Given the description of an element on the screen output the (x, y) to click on. 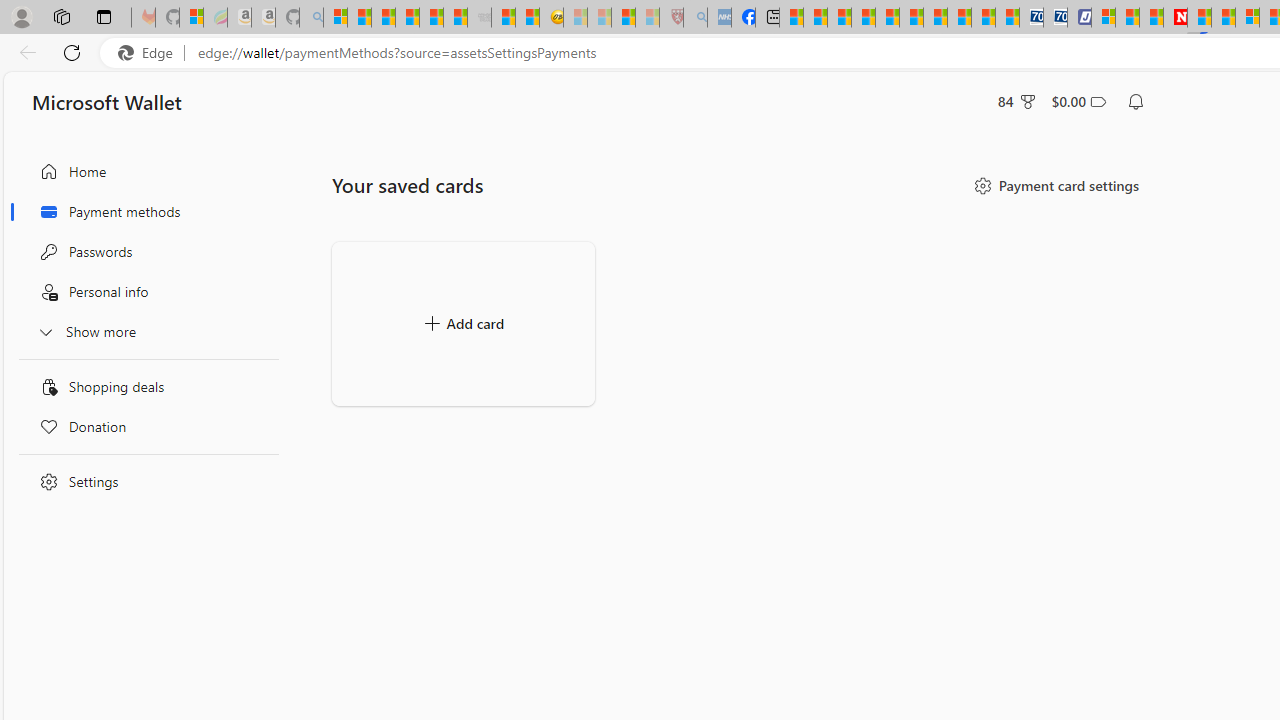
Microsoft Cashback - $0.00 (1078, 101)
